Given the description of an element on the screen output the (x, y) to click on. 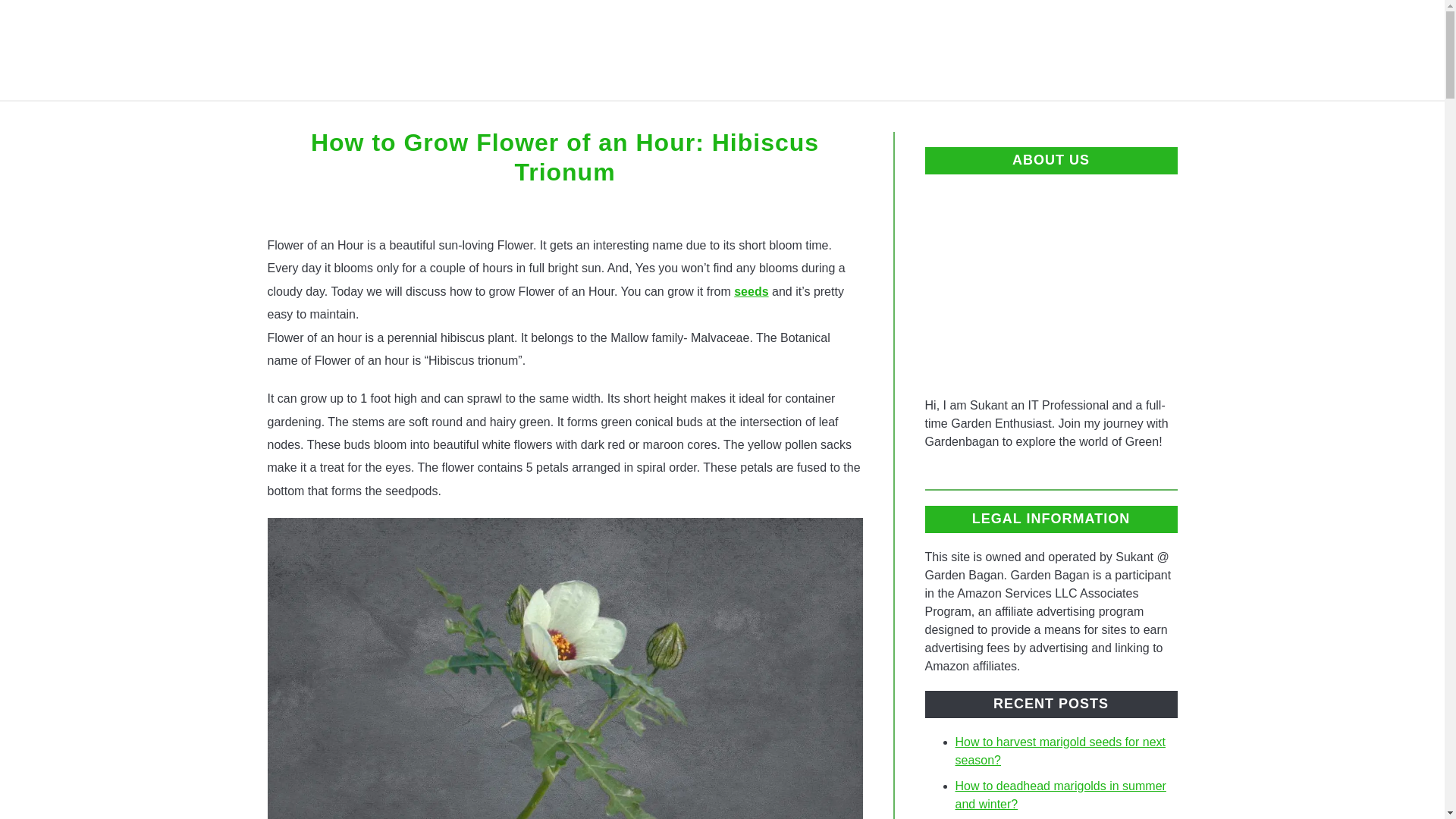
FAQ (779, 118)
VEGETABLES (690, 118)
How to harvest marigold seeds for next season? (1060, 750)
FUNGICIDE (938, 118)
FRUITS (590, 118)
seeds (750, 291)
Search (1203, 49)
HERBS (846, 118)
FLOWERS (501, 118)
